Given the description of an element on the screen output the (x, y) to click on. 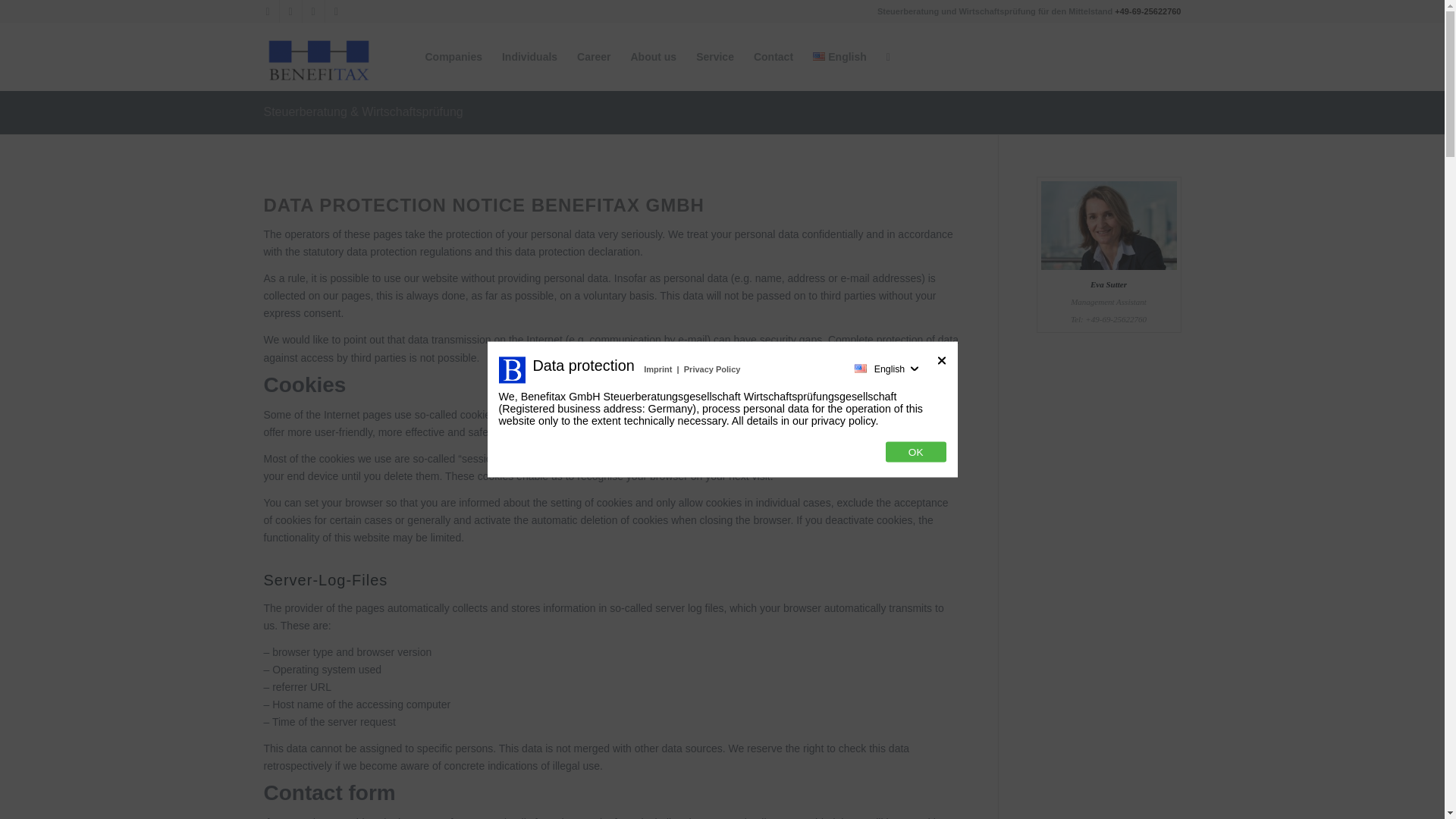
LinkedIn (312, 11)
Facebook (290, 11)
Instagram (267, 11)
Companies (453, 56)
Youtube (335, 11)
